Given the description of an element on the screen output the (x, y) to click on. 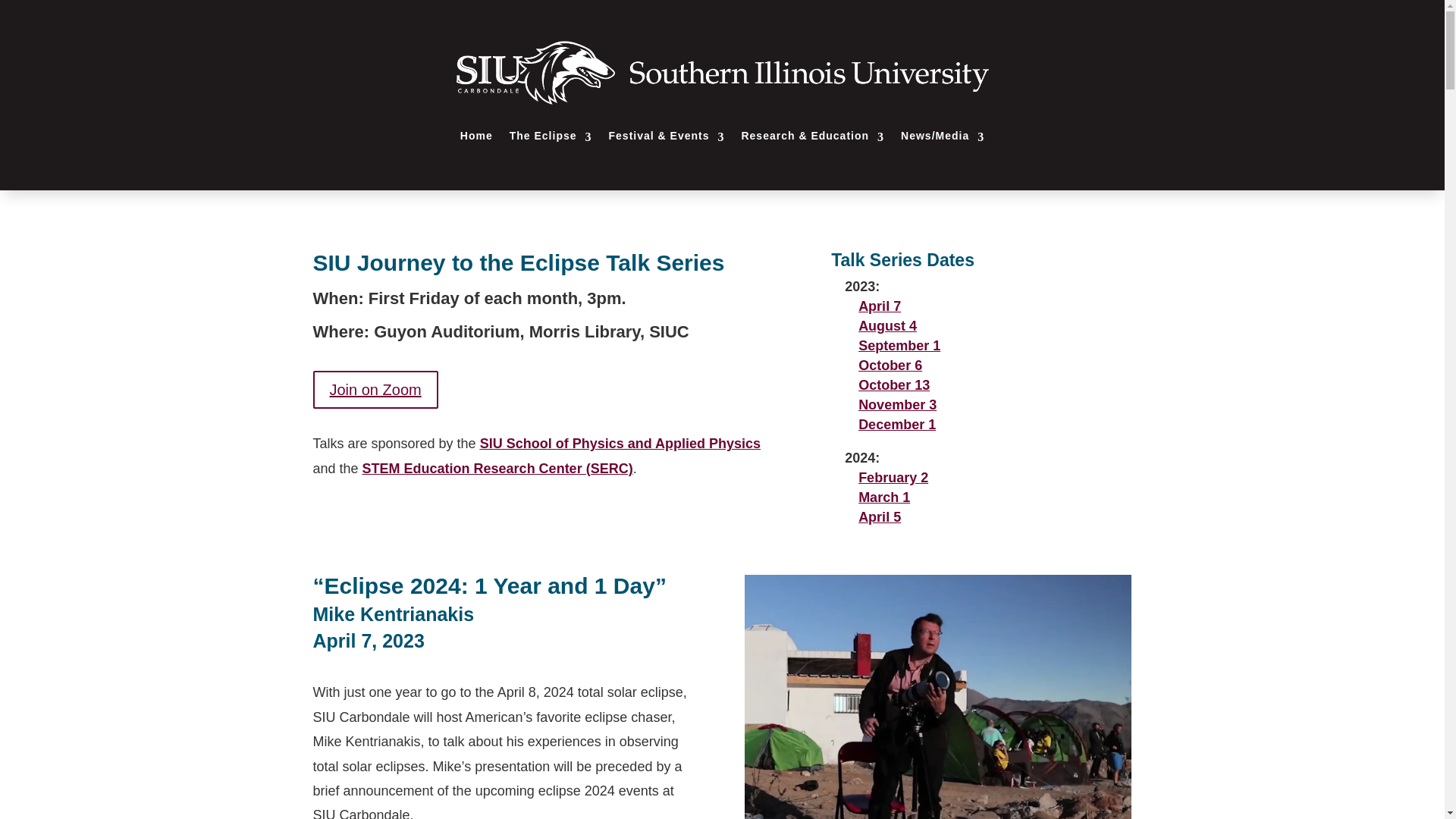
The Eclipse (550, 135)
